Given the description of an element on the screen output the (x, y) to click on. 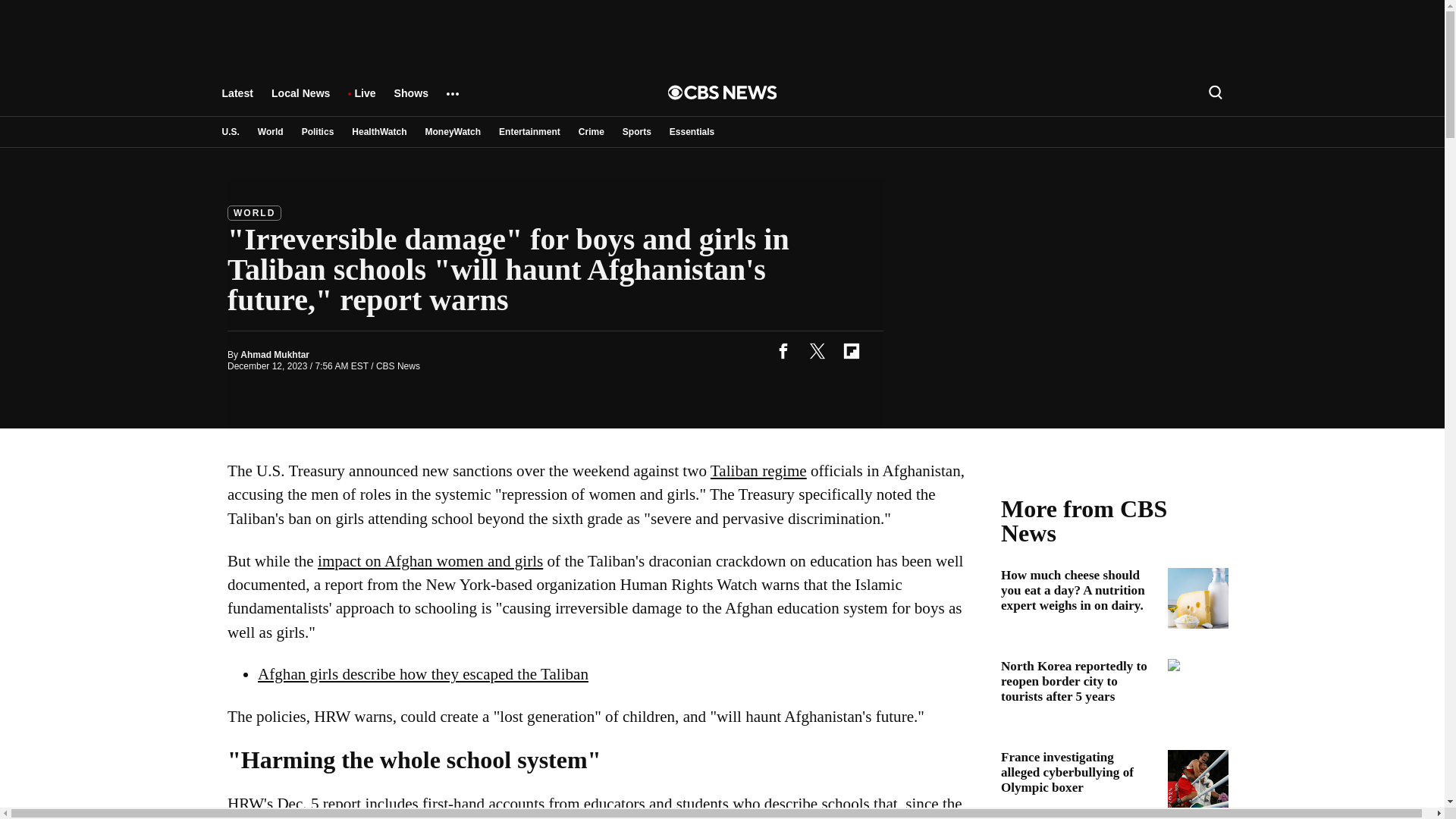
facebook (782, 350)
Local News (300, 100)
flipboard (850, 350)
Latest (236, 100)
twitter (816, 350)
